Given the description of an element on the screen output the (x, y) to click on. 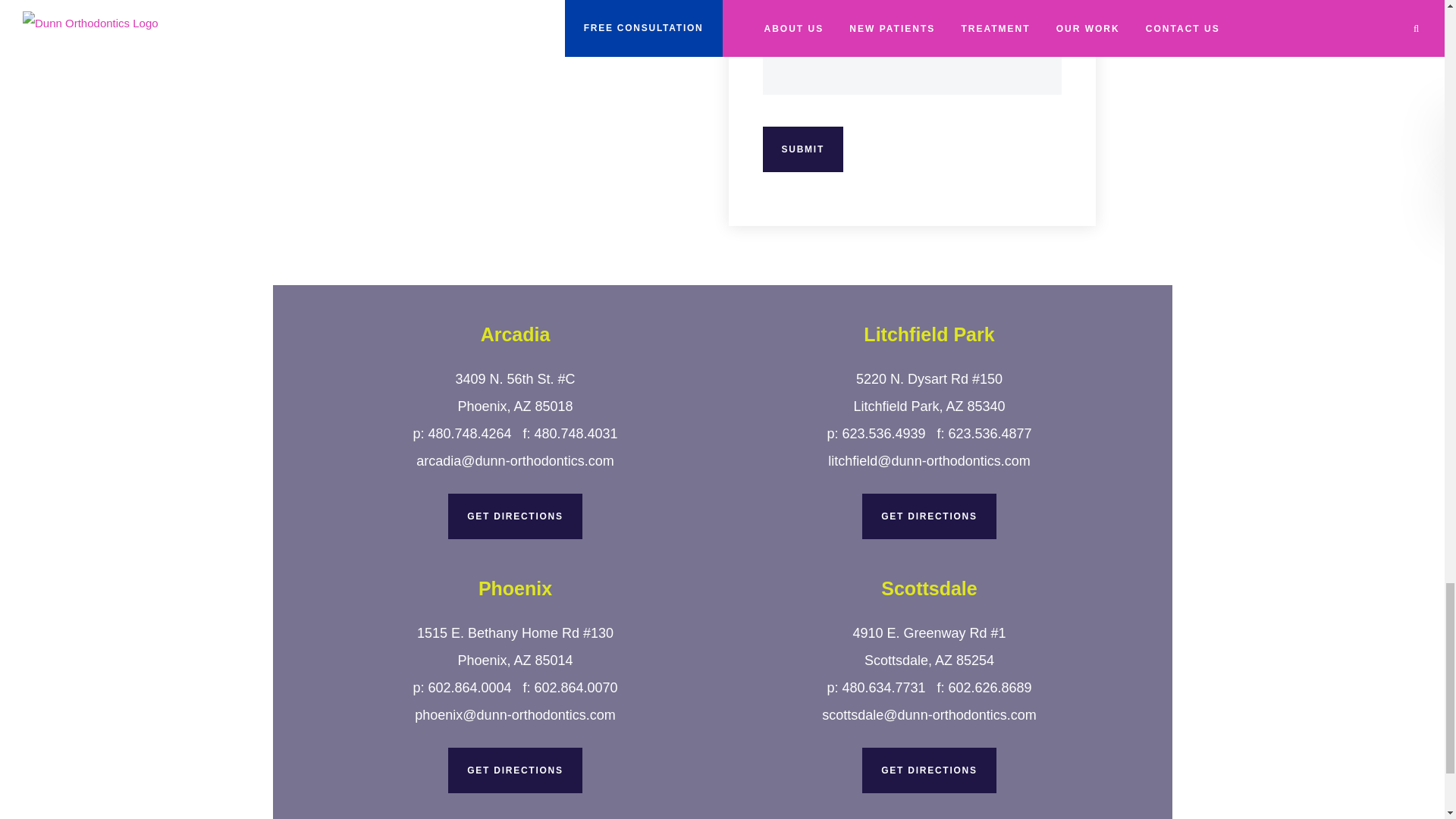
Submit (803, 148)
